Given the description of an element on the screen output the (x, y) to click on. 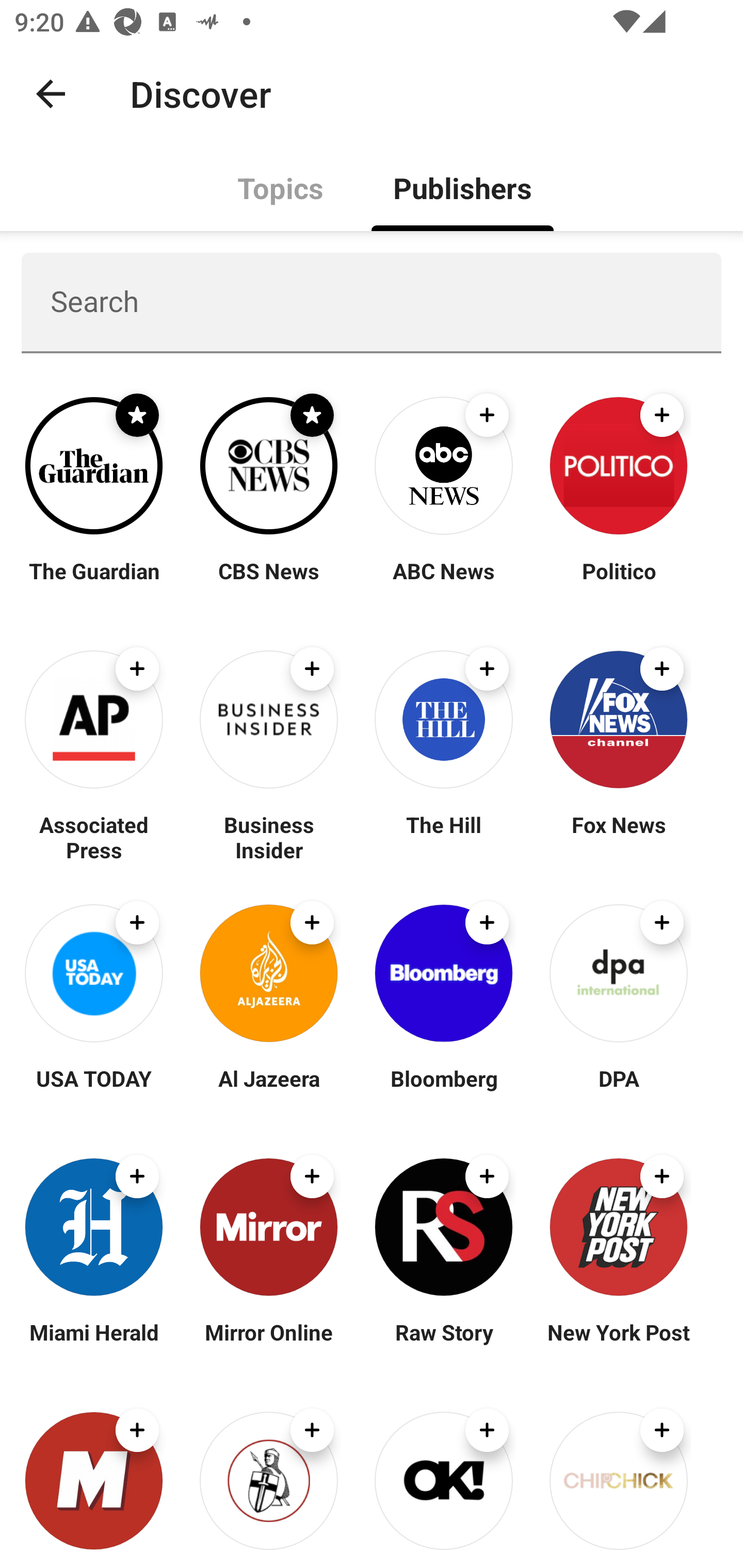
Topics (280, 187)
Search (371, 302)
The Guardian (93, 582)
CBS News (268, 582)
ABC News (443, 582)
Politico (618, 582)
Associated Press (93, 836)
Business Insider (268, 836)
The Hill (443, 836)
Fox News (618, 836)
USA TODAY (93, 1090)
Al Jazeera (268, 1090)
Bloomberg (443, 1090)
DPA (618, 1090)
Miami Herald (93, 1344)
Mirror Online (268, 1344)
Raw Story (443, 1344)
New York Post (618, 1344)
